Given the description of an element on the screen output the (x, y) to click on. 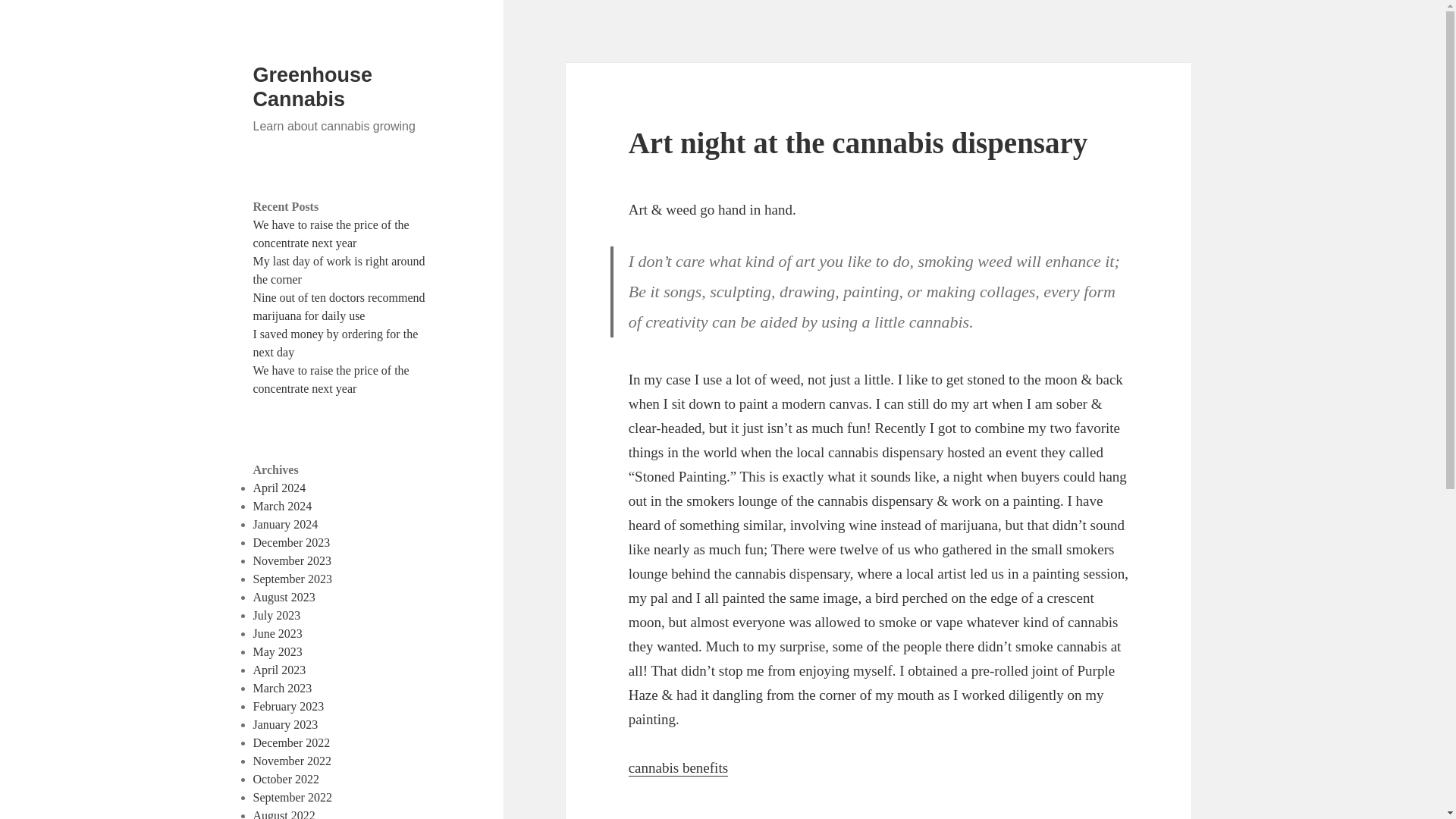
August 2023 (284, 596)
September 2023 (292, 578)
June 2023 (277, 633)
July 2023 (277, 615)
September 2022 (292, 797)
March 2023 (283, 687)
February 2023 (288, 706)
cannabis benefits (678, 768)
Nine out of ten doctors recommend marijuana for daily use (339, 306)
December 2022 (291, 742)
